Given the description of an element on the screen output the (x, y) to click on. 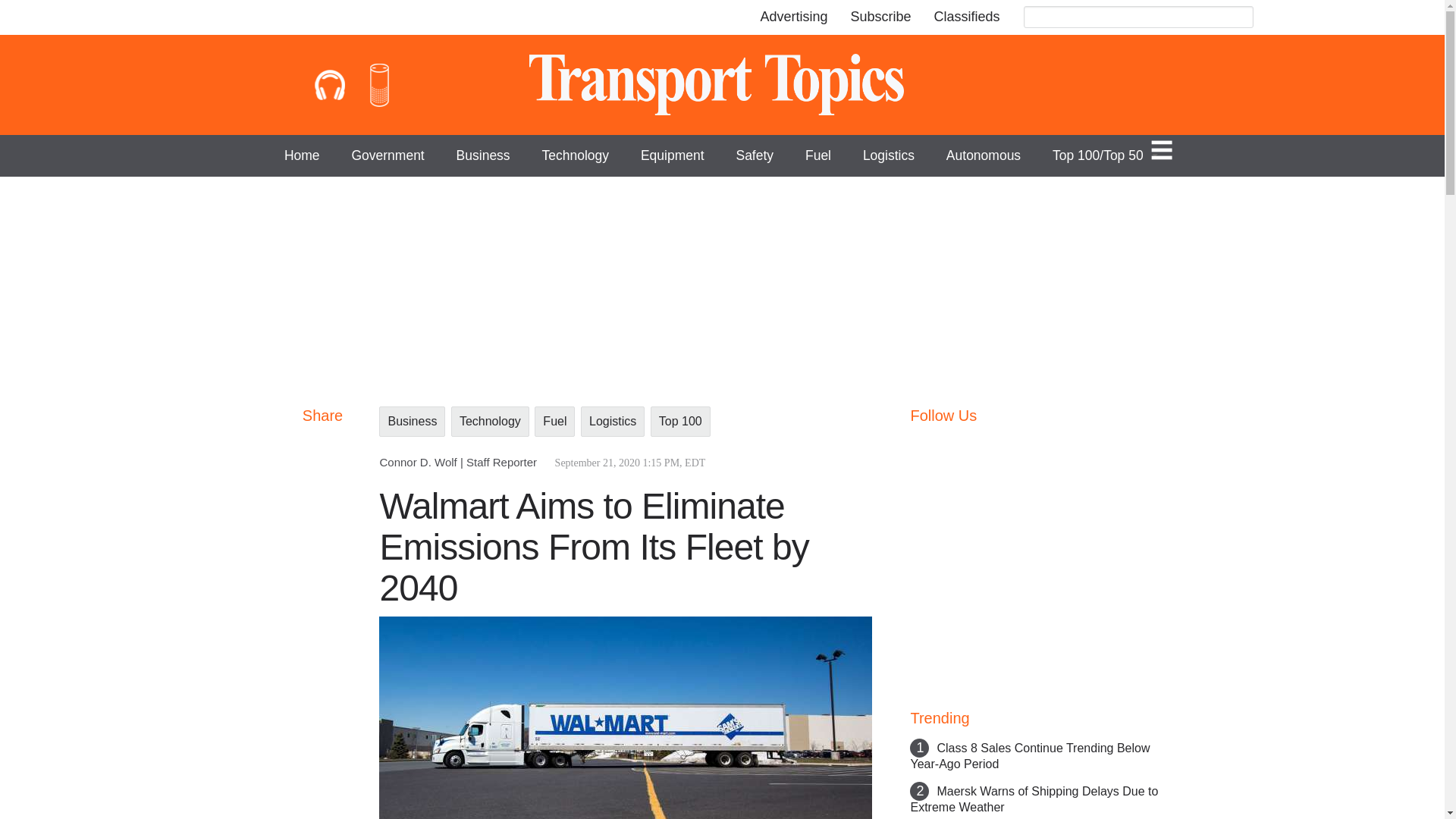
Share to Linkedin (322, 510)
Follow us on Facebook (915, 446)
Classifieds (965, 17)
Daily Briefings on Your Smart Speaker (379, 84)
Share to Facebook (322, 449)
Walmart Truck (625, 717)
Follow us on YouTube (997, 446)
Print (322, 601)
Share to Twitter (322, 479)
Apply (1238, 17)
Advertising (793, 17)
Follow us on Twitter (954, 445)
Home (721, 85)
Follow us on LinkedIn (1037, 445)
